Given the description of an element on the screen output the (x, y) to click on. 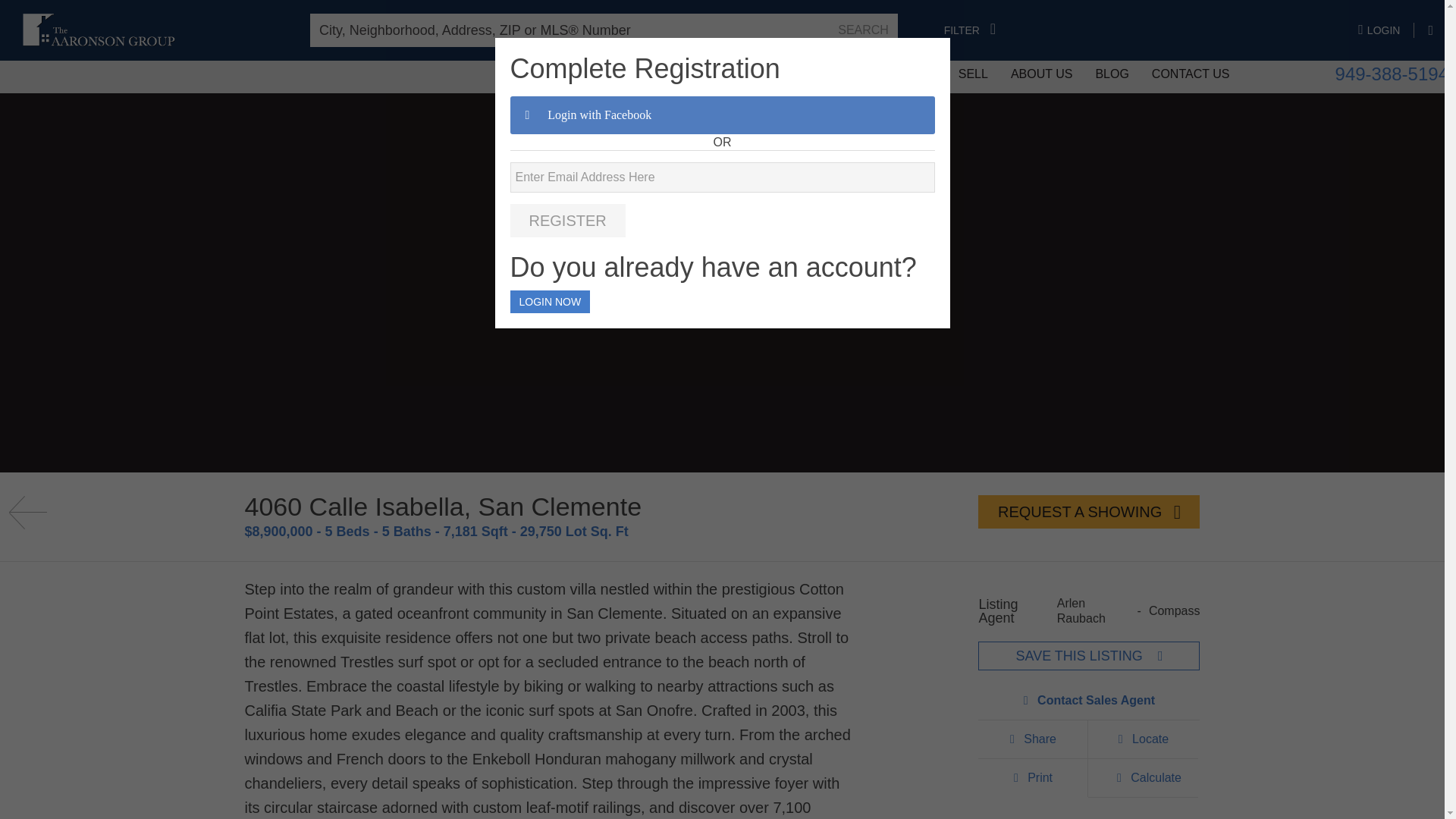
SEARCH (863, 29)
FILTER (969, 29)
LOGIN (1385, 29)
